Given the description of an element on the screen output the (x, y) to click on. 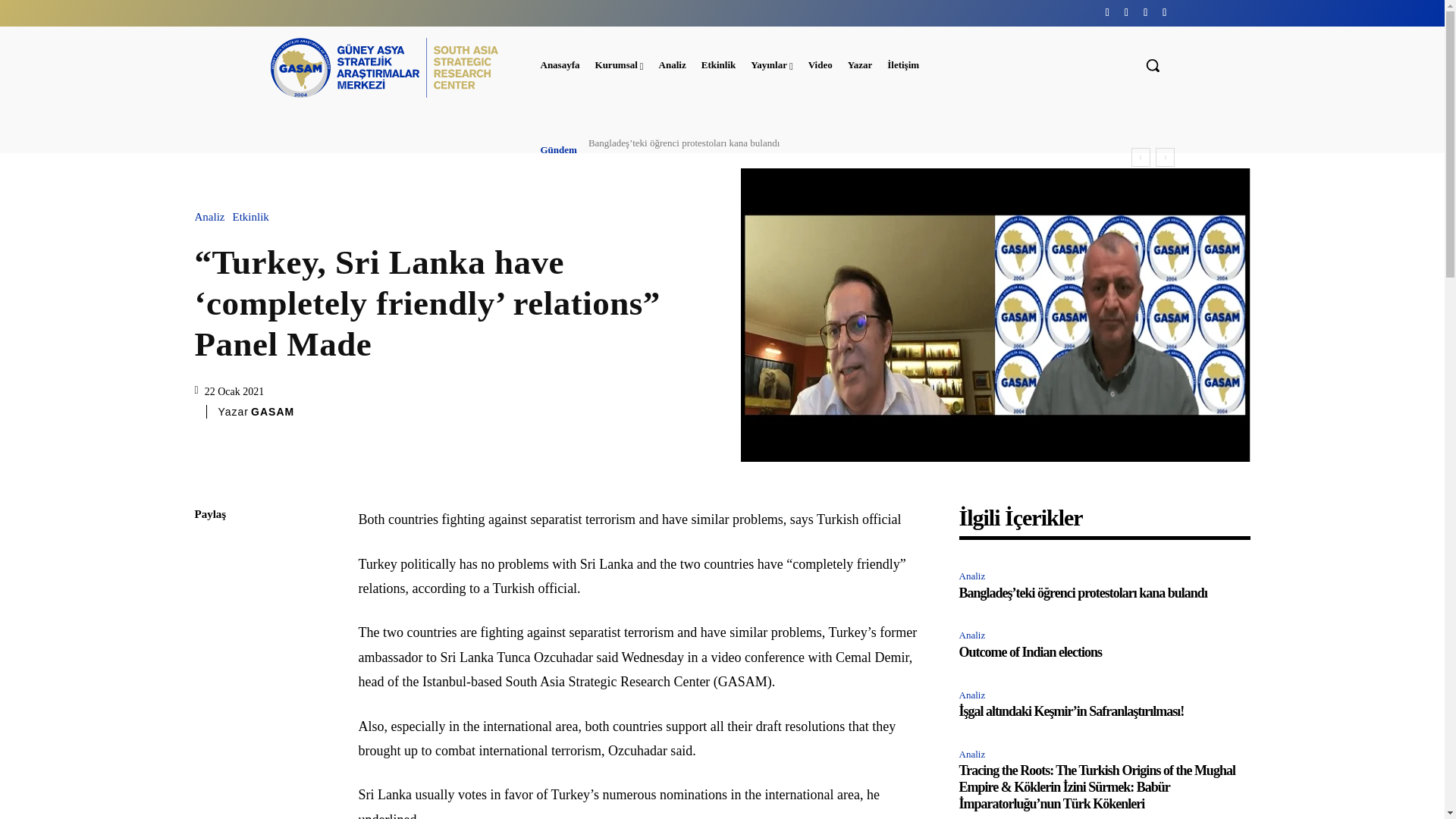
Video (820, 64)
Anasayfa (559, 64)
Youtube (1163, 12)
Twitter (1144, 12)
Facebook (1106, 12)
Instagram (1125, 12)
Kurumsal (619, 64)
Yazar (860, 64)
Etkinlik (718, 64)
Analiz (672, 64)
